Given the description of an element on the screen output the (x, y) to click on. 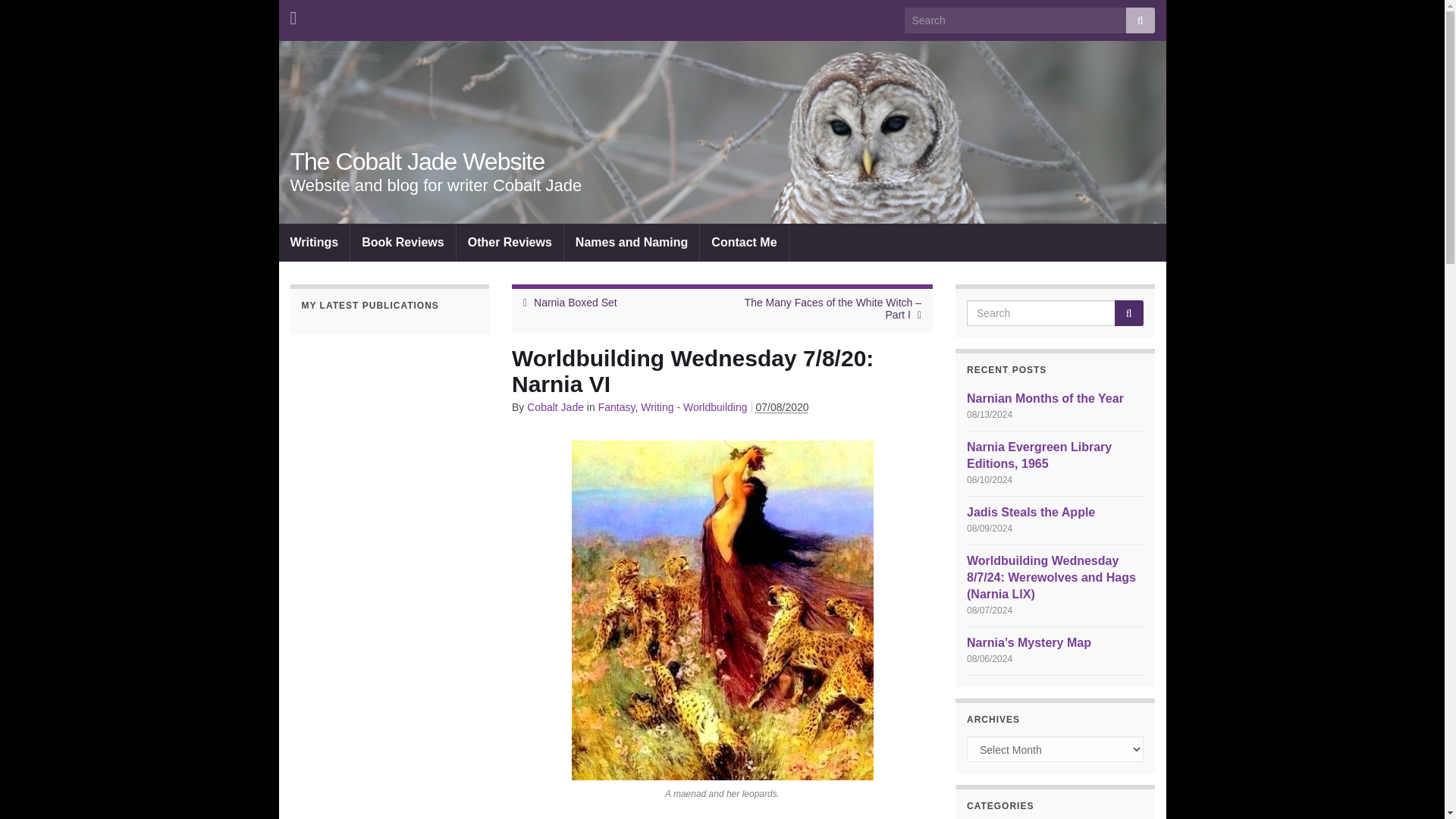
Narnian Months of the Year (1045, 398)
Writings (314, 242)
Narnia Boxed Set (575, 302)
Narnia Evergreen Library Editions, 1965 (1039, 455)
Contact Me (743, 242)
Fantasy (616, 407)
2020-07-08T07:27:09-07:00 (782, 407)
Go back to the front page (416, 161)
Writing - Worldbuilding (693, 407)
Jadis Steals the Apple (1030, 512)
